Given the description of an element on the screen output the (x, y) to click on. 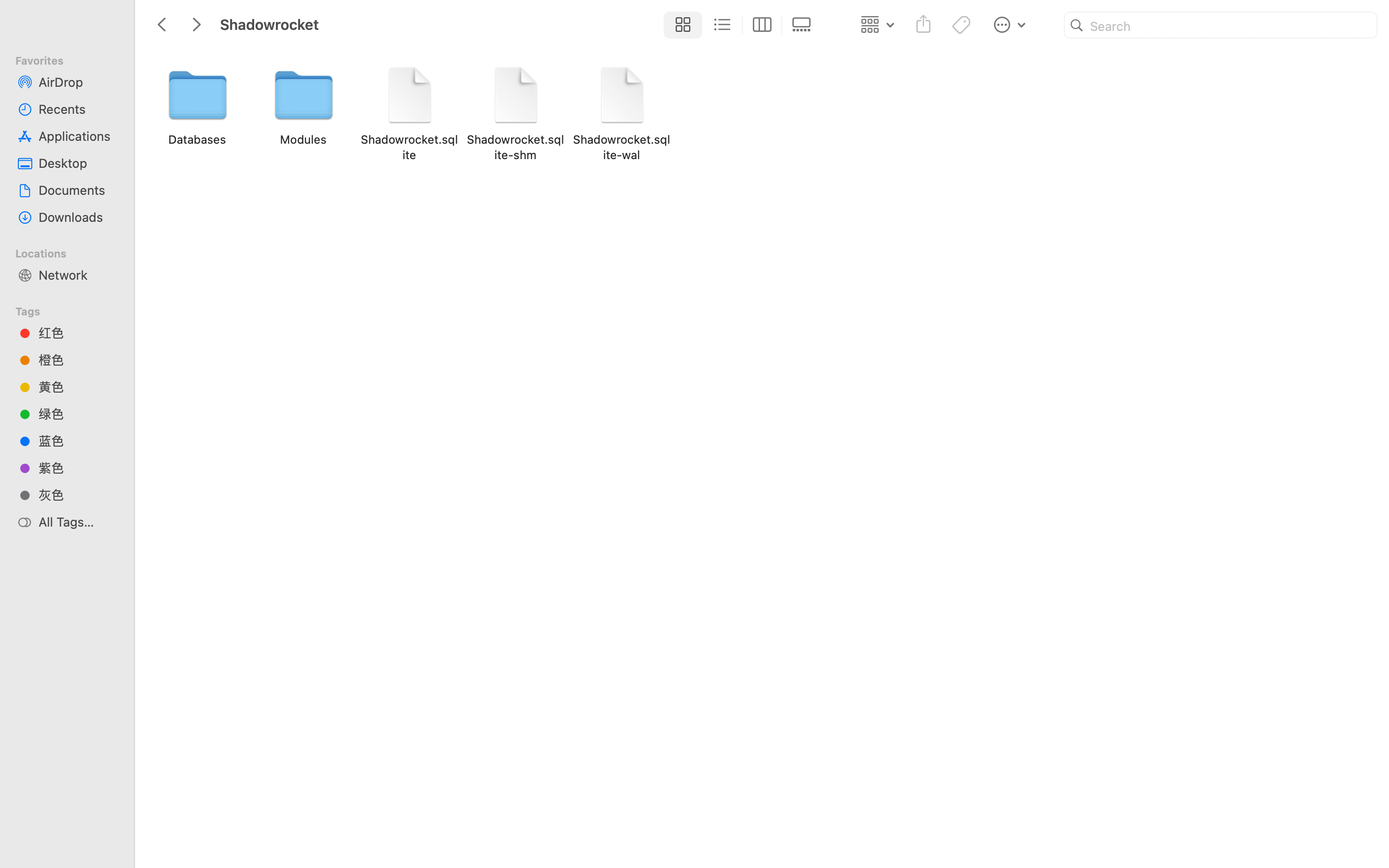
Downloads Element type: AXStaticText (77, 216)
红色 Element type: AXStaticText (77, 332)
紫色 Element type: AXStaticText (77, 467)
橙色 Element type: AXStaticText (77, 359)
Favorites Element type: AXStaticText (72, 59)
